Given the description of an element on the screen output the (x, y) to click on. 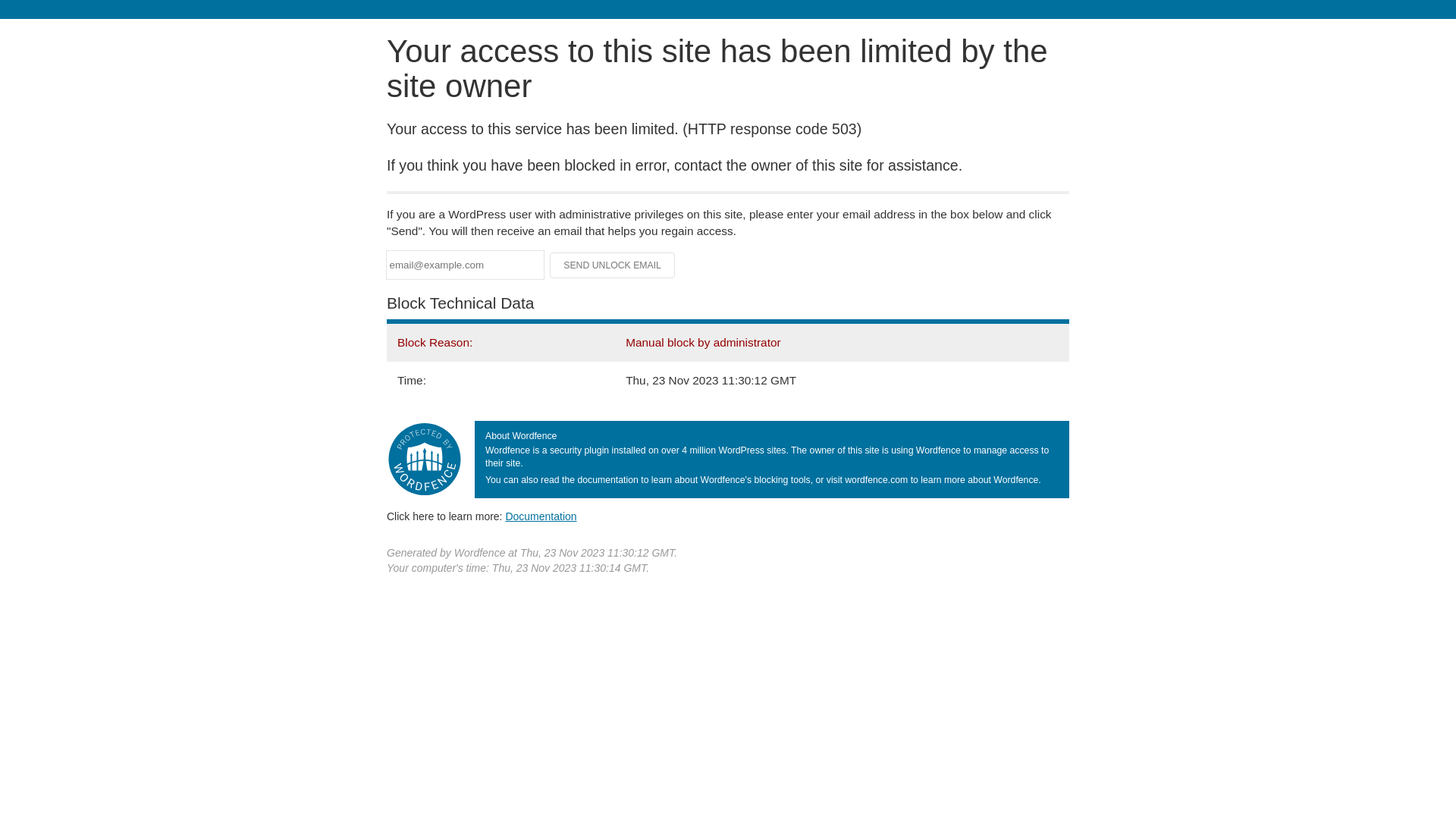
Documentation Element type: text (540, 516)
Send Unlock Email Element type: text (612, 265)
